Given the description of an element on the screen output the (x, y) to click on. 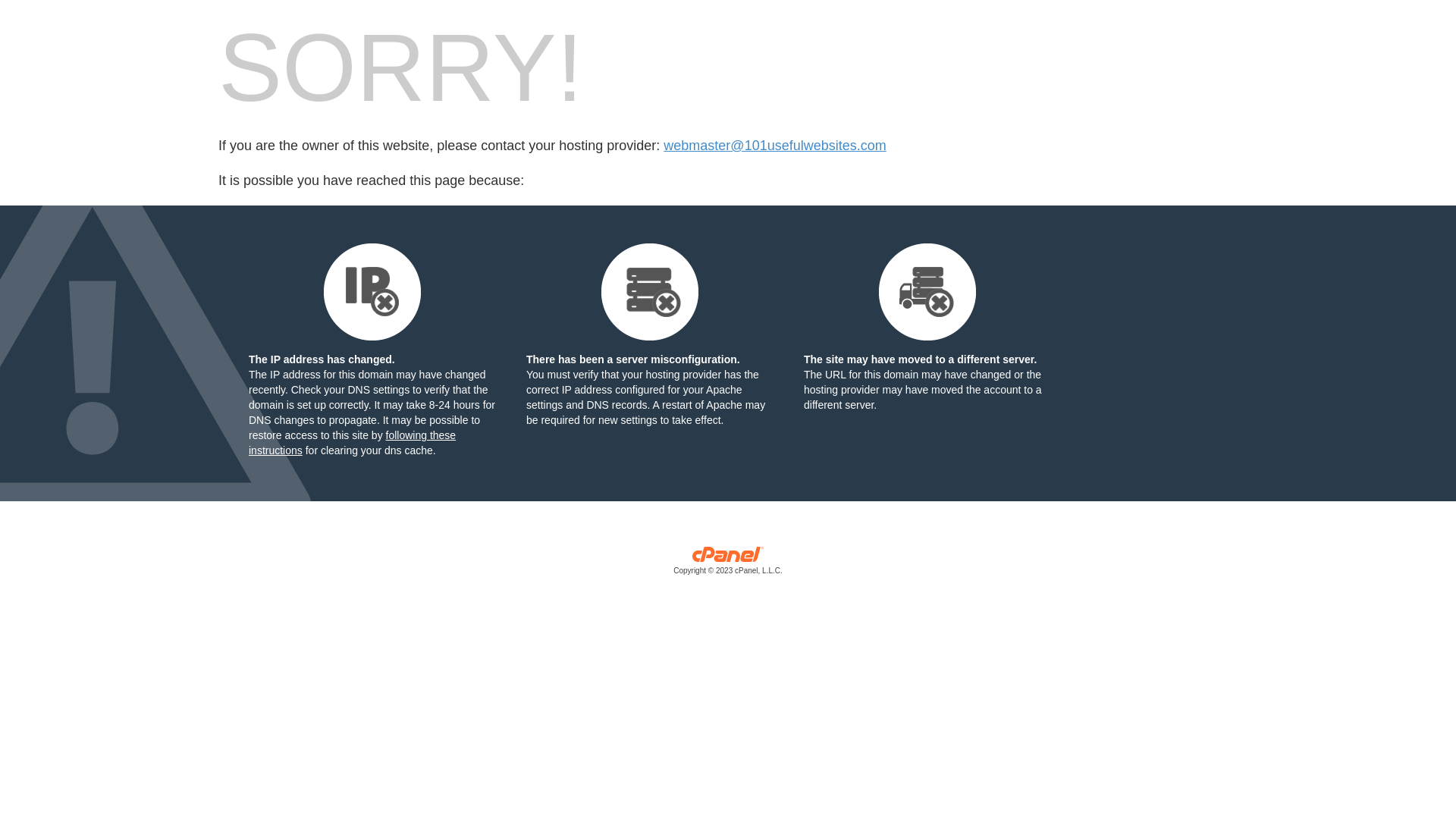
webmaster@101usefulwebsites.com Element type: text (774, 145)
following these instructions Element type: text (351, 442)
